Given the description of an element on the screen output the (x, y) to click on. 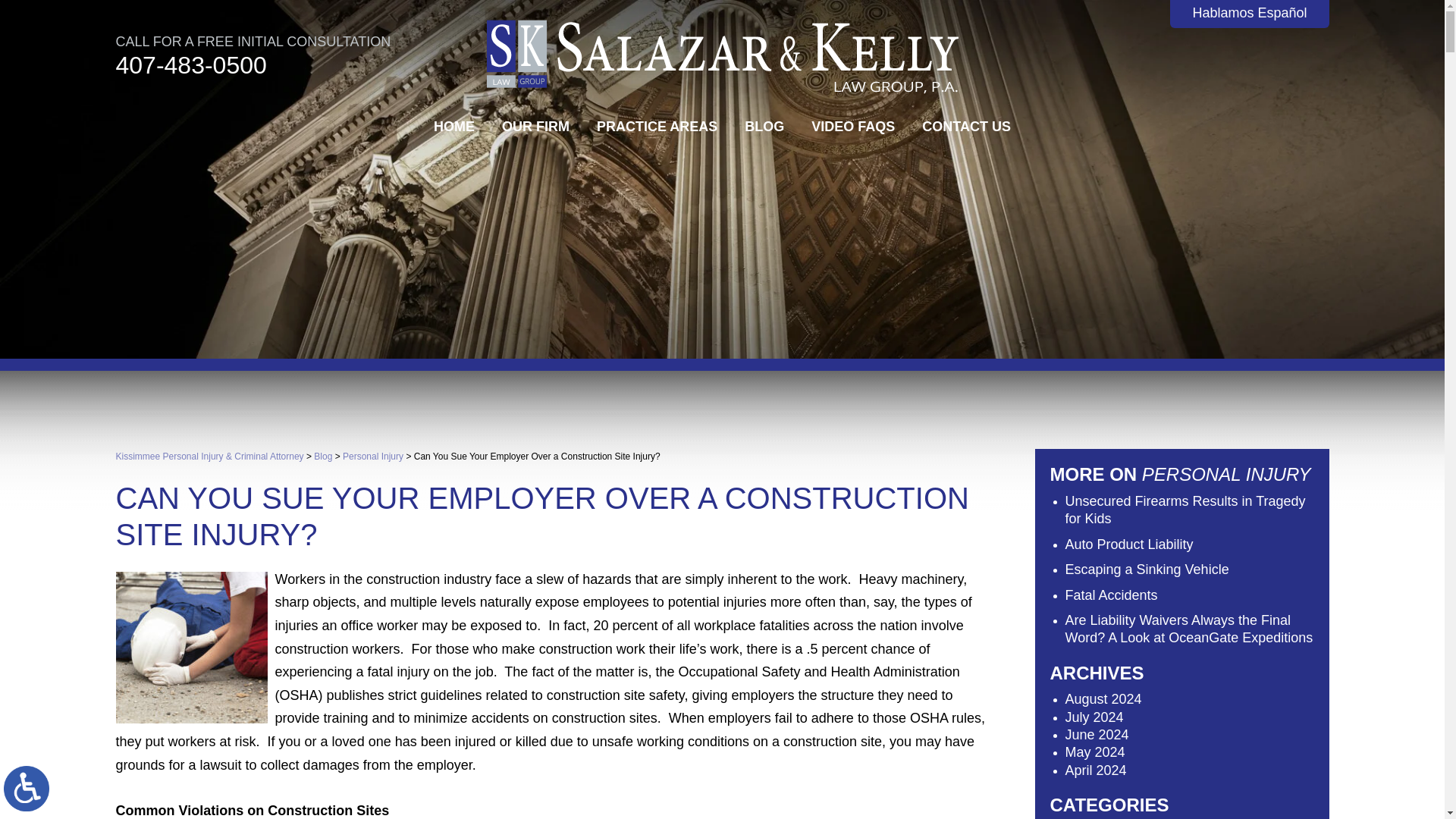
PRACTICE AREAS (656, 125)
407-483-0500 (190, 64)
Switch to ADA Accessible Theme (26, 788)
OUR FIRM (535, 125)
HOME (453, 125)
